Given the description of an element on the screen output the (x, y) to click on. 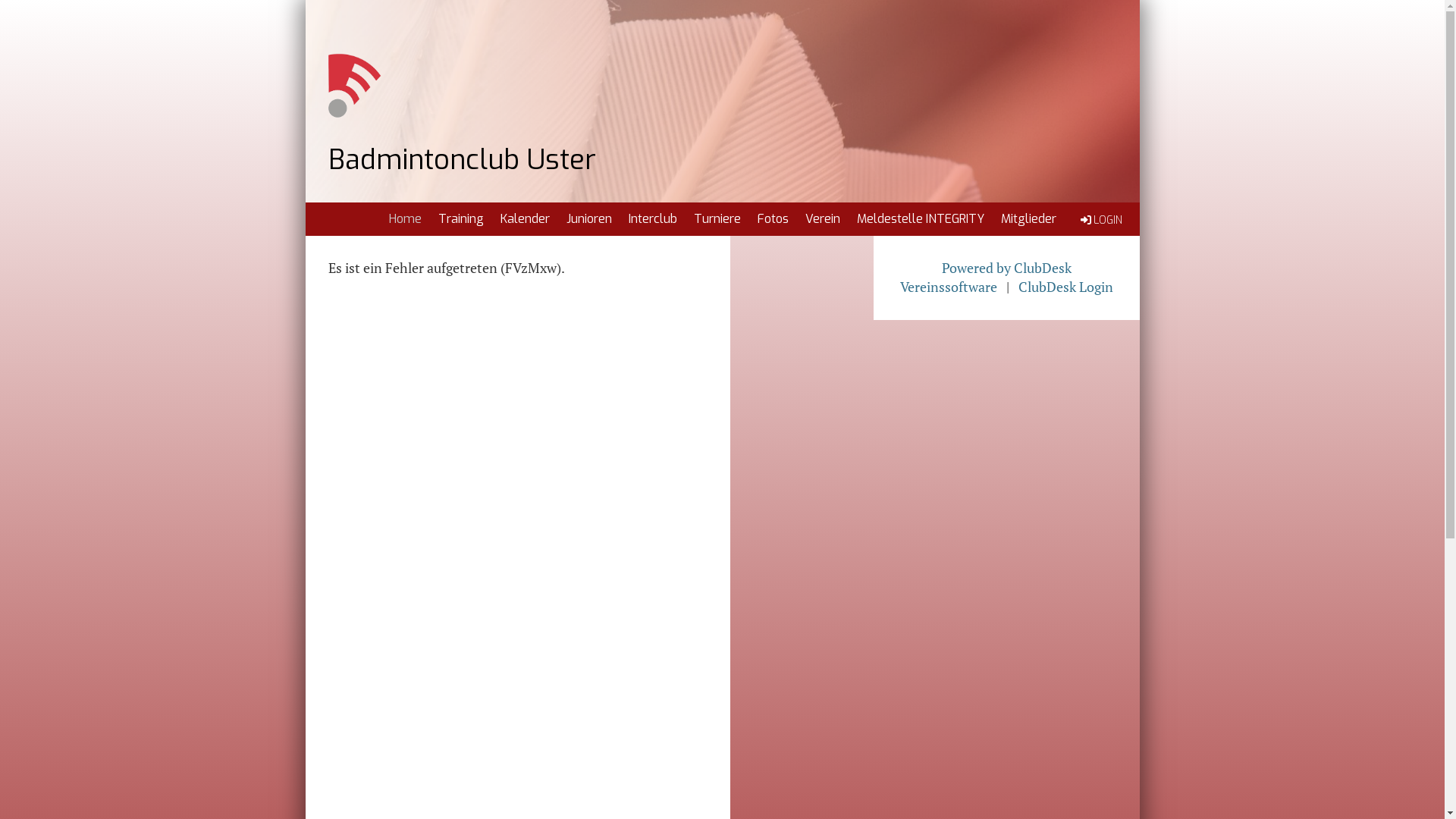
ClubDesk Login Element type: text (1065, 286)
Home Element type: text (404, 218)
Verein Element type: text (821, 218)
Powered by ClubDesk Vereinssoftware Element type: text (985, 276)
LOGIN Element type: text (1099, 220)
Meldestelle INTEGRITY Element type: text (919, 218)
Mitglieder Element type: text (1027, 218)
Kalender Element type: text (524, 218)
Junioren Element type: text (589, 218)
Interclub Element type: text (652, 218)
Fotos Element type: text (773, 218)
Training Element type: text (460, 218)
Turniere Element type: text (717, 218)
